Given the description of an element on the screen output the (x, y) to click on. 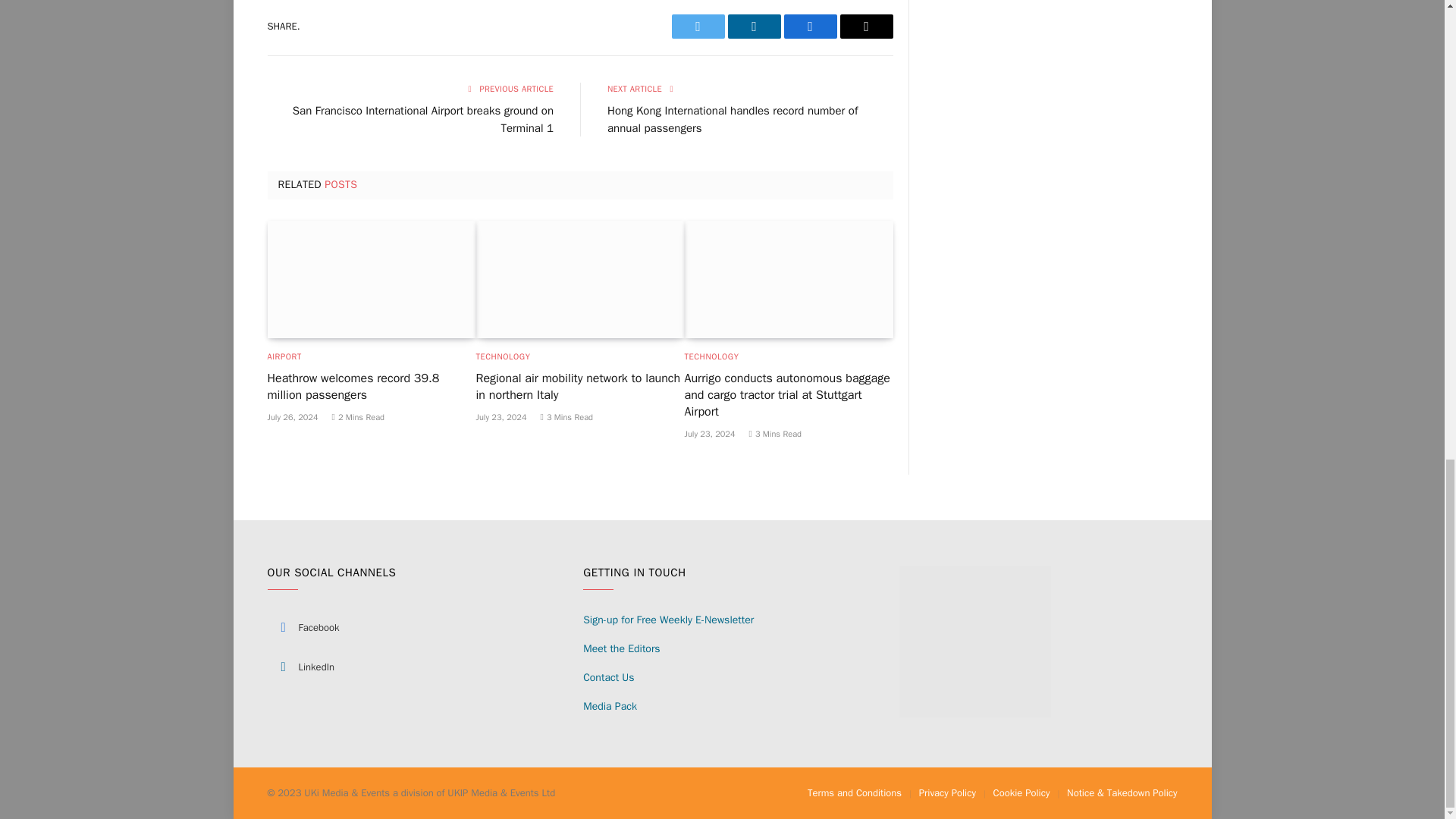
Share on Facebook (810, 26)
Share via Email (866, 26)
Share on LinkedIn (754, 26)
Regional air mobility network to launch in northern Italy (580, 279)
Heathrow welcomes record 39.8 million passengers (371, 279)
